Given the description of an element on the screen output the (x, y) to click on. 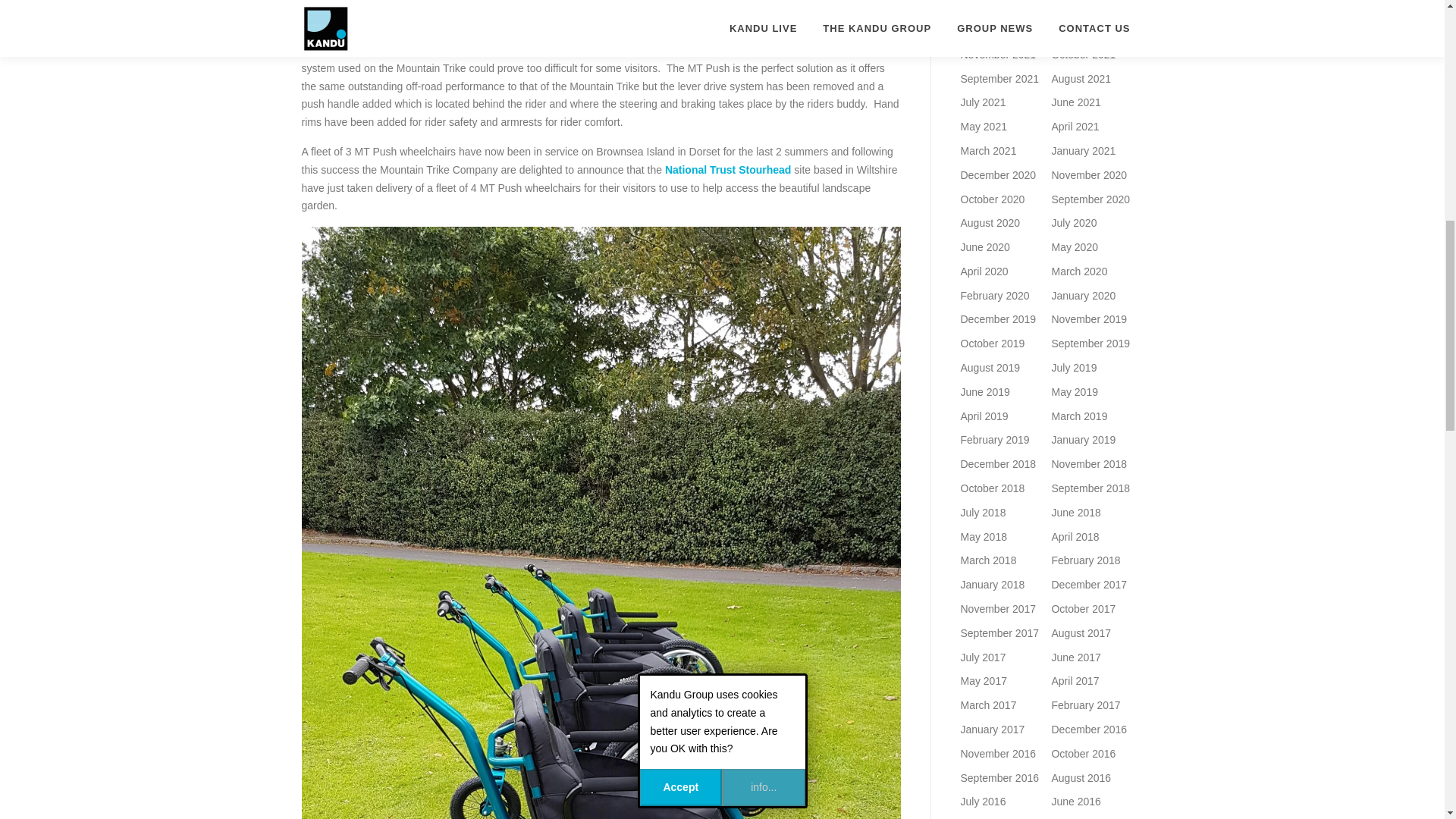
MT Push (544, 13)
National Trust Stourhead (727, 169)
National Trust (588, 10)
The Mountain Trike Company (375, 1)
Brownsea Island (730, 31)
Mountain Trike (858, 13)
